Given the description of an element on the screen output the (x, y) to click on. 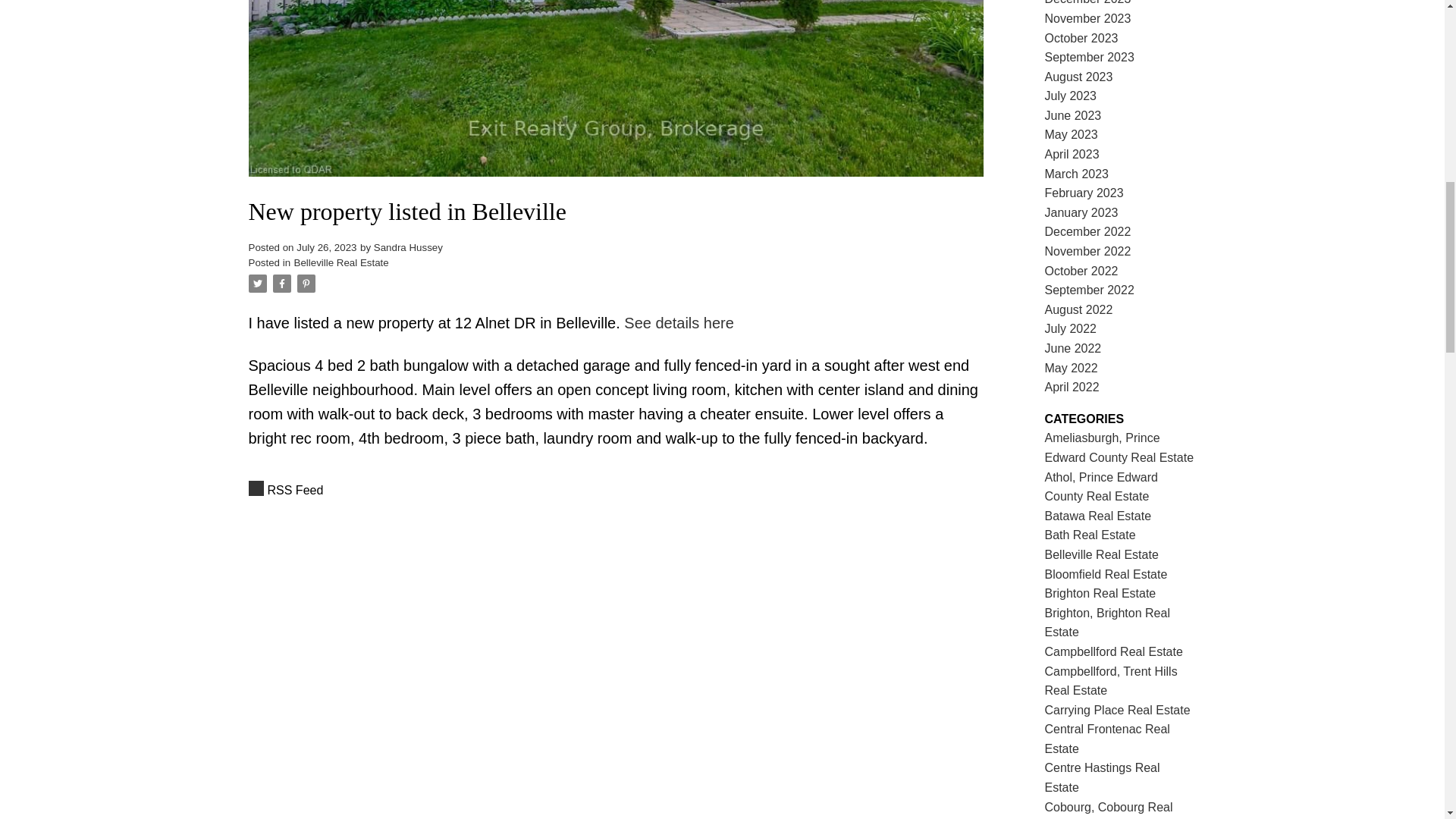
Belleville Real Estate (341, 262)
See details here (678, 322)
RSS (616, 490)
